Given the description of an element on the screen output the (x, y) to click on. 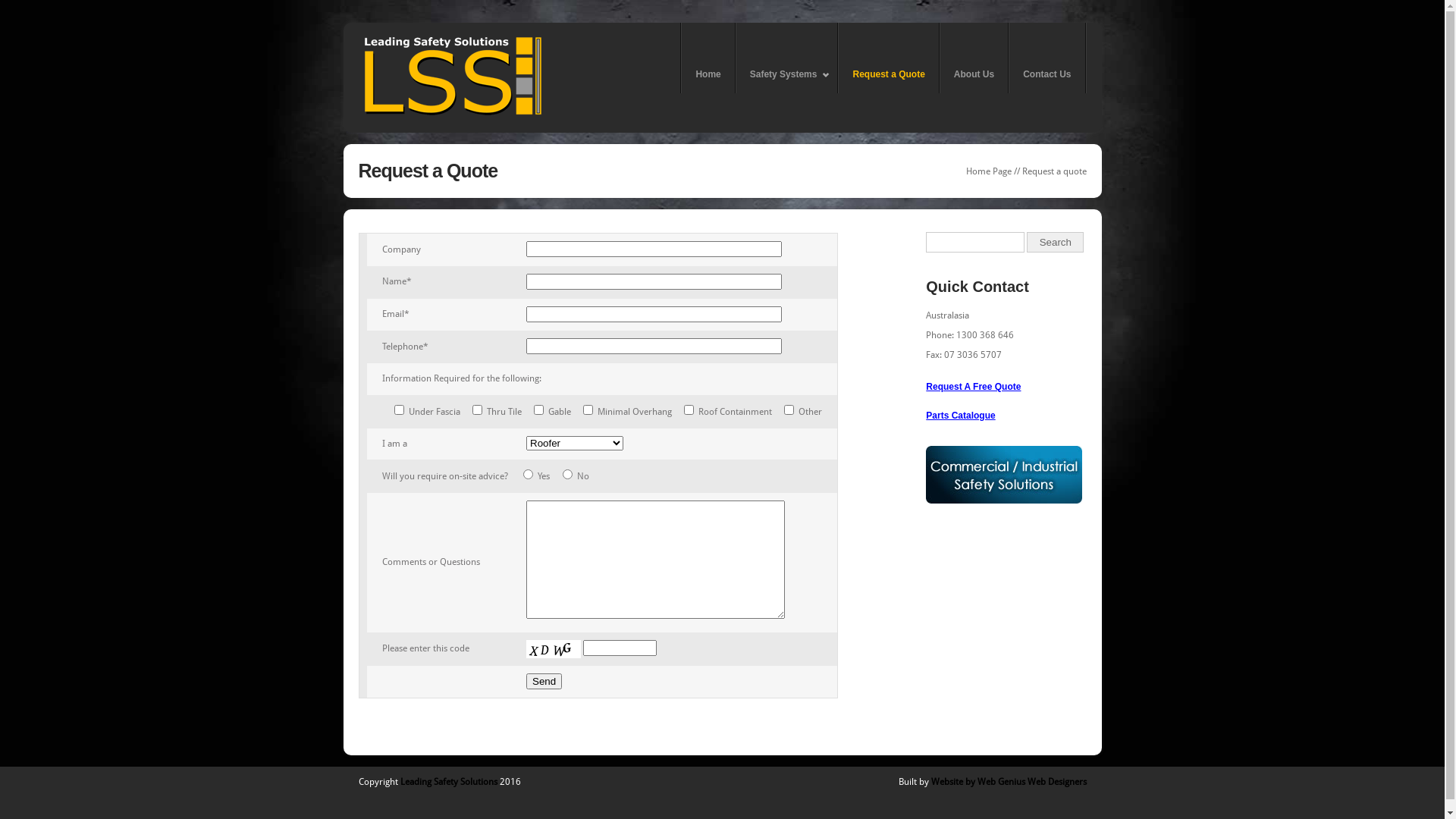
Leading Safety Solutions Element type: hover (452, 117)
Home Page Element type: text (988, 171)
Request a Quote Element type: text (887, 57)
Contact Us Element type: text (1046, 57)
Search Element type: text (1054, 242)
Home Element type: text (707, 57)
About Us Element type: text (973, 57)
Website by Web Genius Web Designers Element type: text (1008, 781)
Parts Catalogue Element type: text (959, 415)
Request A Free Quote Element type: text (972, 386)
Leading Safety Solutions Element type: text (448, 781)
Request a quote Element type: text (1054, 171)
Send Element type: text (543, 681)
